Given the description of an element on the screen output the (x, y) to click on. 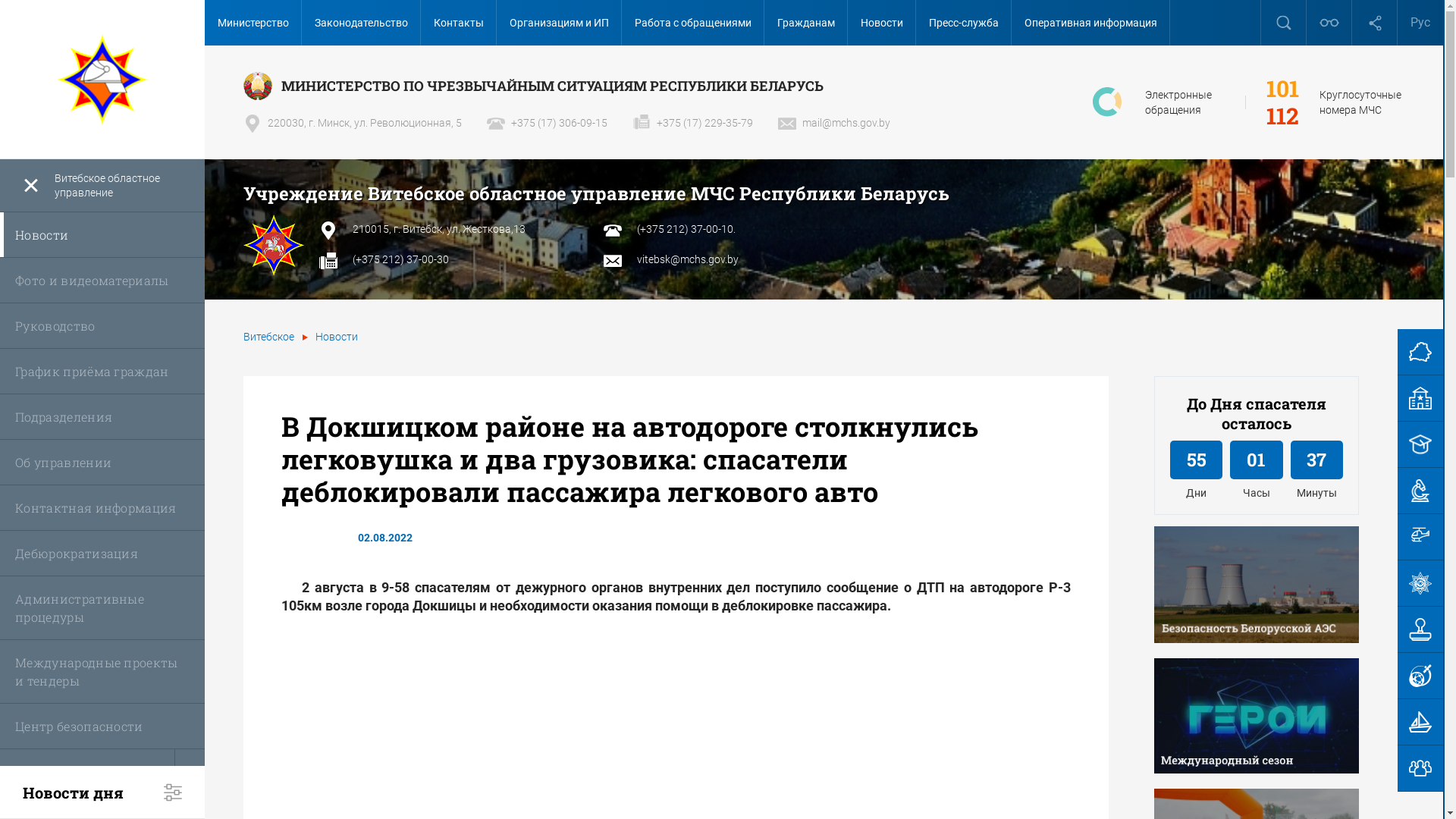
112 Element type: text (1282, 115)
+375 (17) 306-09-15 Element type: text (546, 122)
101 Element type: text (1282, 88)
mail@mchs.gov.by Element type: text (834, 122)
vitebsk@mchs.gov.by Element type: text (687, 259)
(+375 212) 37-00- Element type: text (394, 259)
(+375 212) 37-00-10. Element type: text (686, 228)
+375 (17) 229-35-79 Element type: text (692, 122)
